Given the description of an element on the screen output the (x, y) to click on. 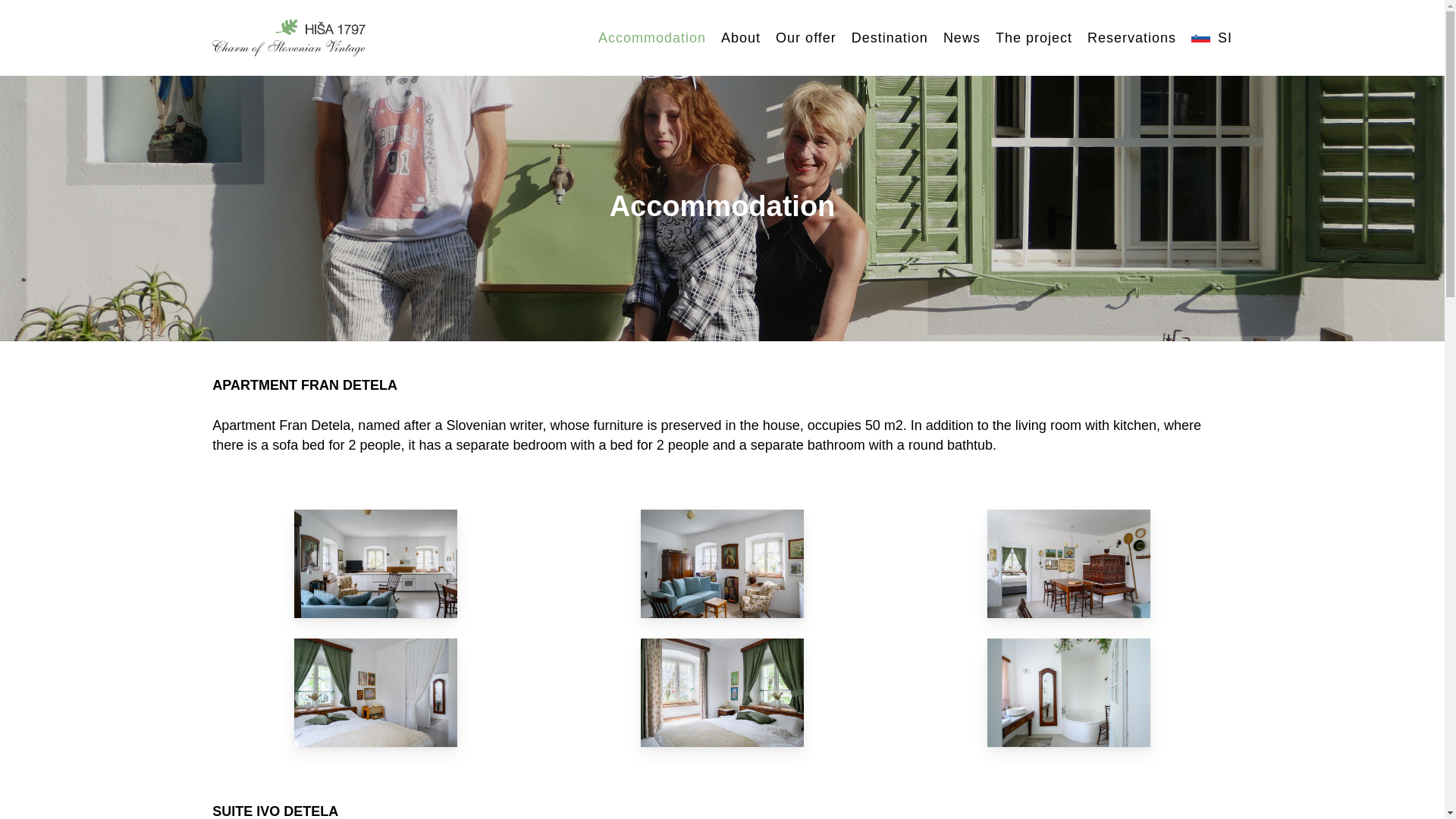
The project (1034, 38)
About (740, 38)
Our offer (806, 38)
Destination (890, 38)
SI (1207, 38)
Reservations (1131, 38)
Accommodation (652, 38)
News (962, 38)
